Given the description of an element on the screen output the (x, y) to click on. 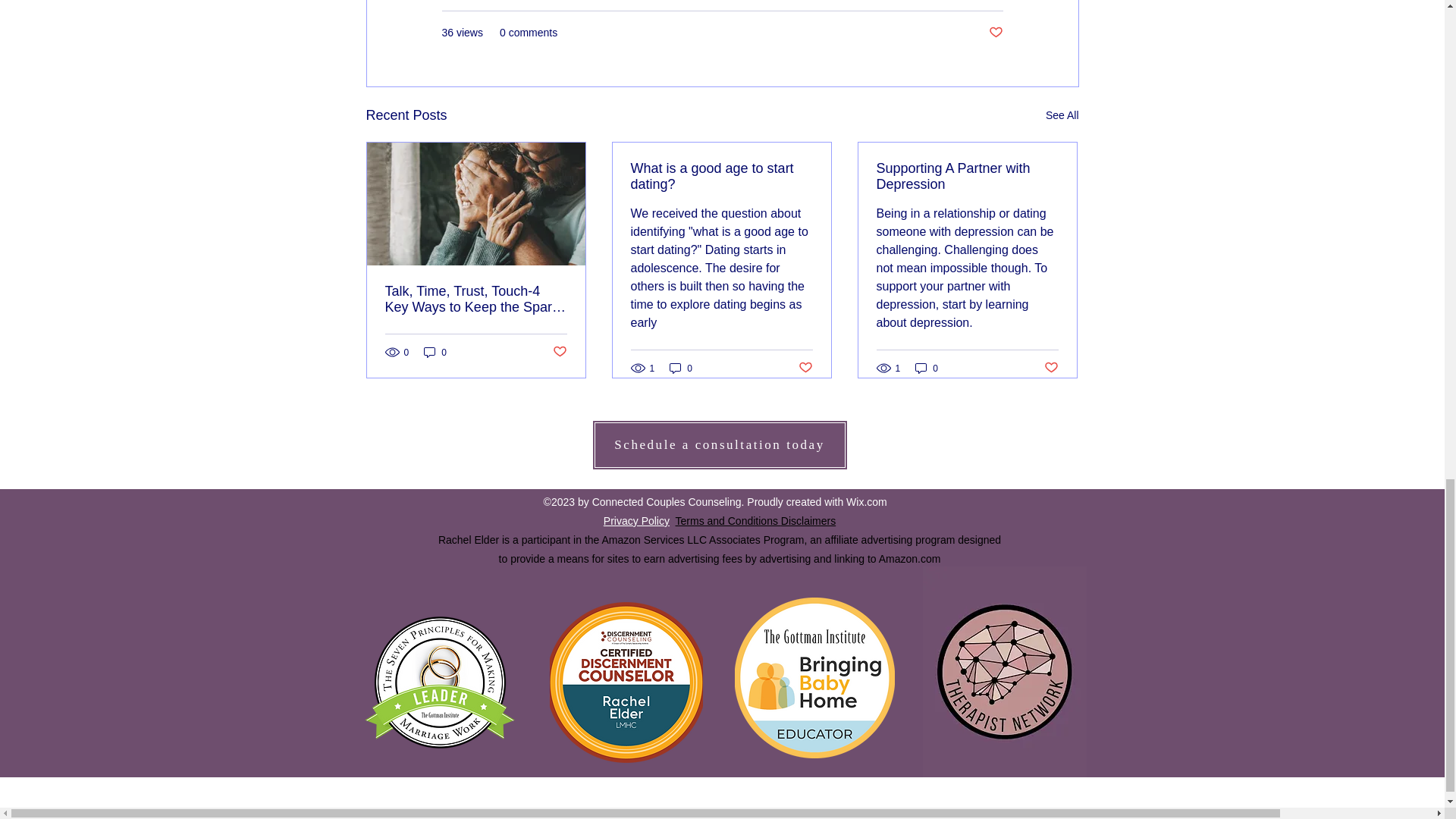
See All (1061, 115)
Talk, Time, Trust, Touch-4 Key Ways to Keep the Spark Alive (476, 299)
0 (435, 351)
Post not marked as liked (995, 32)
